Given the description of an element on the screen output the (x, y) to click on. 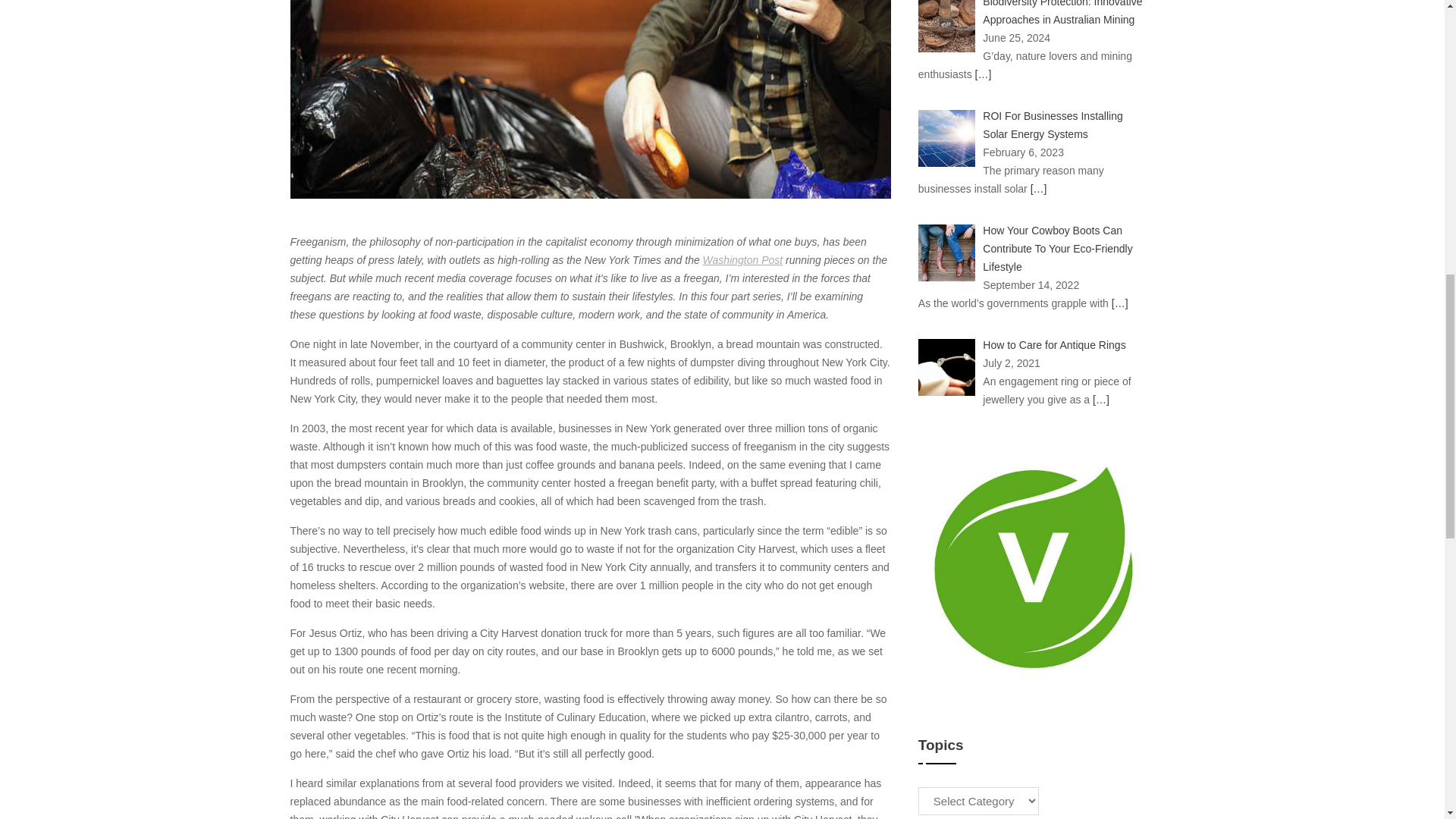
How to Care for Antique Rings  (1055, 345)
Washington Post (743, 259)
ROI For Businesses Installing Solar Energy Systems (1052, 124)
